Given the description of an element on the screen output the (x, y) to click on. 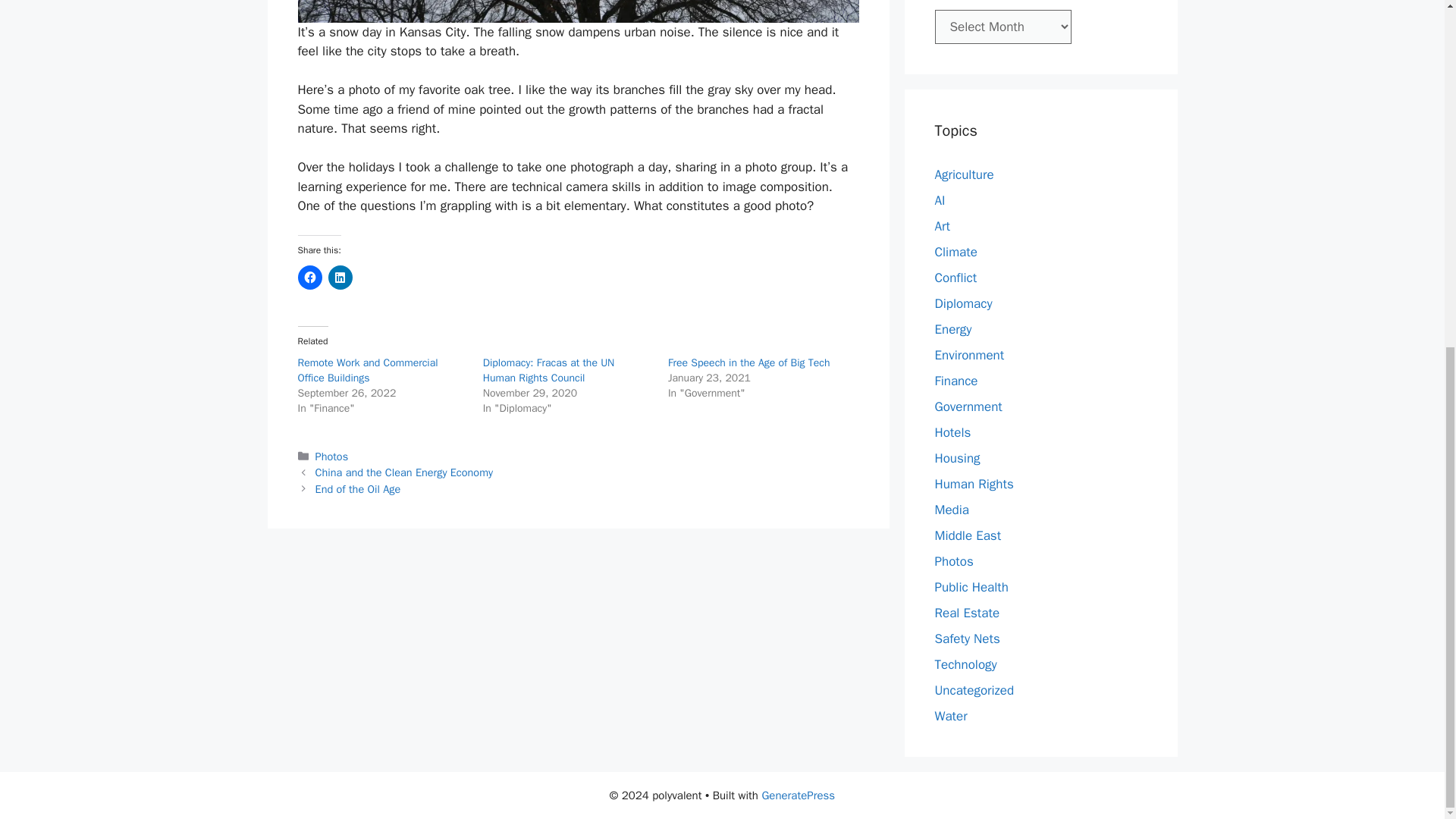
Photos (332, 456)
End of the Oil Age (358, 489)
Remote Work and Commercial Office Buildings (367, 370)
Click to share on Facebook (309, 277)
Remote Work and Commercial Office Buildings (367, 370)
Click to share on LinkedIn (339, 277)
Free Speech in the Age of Big Tech (748, 362)
Free Speech in the Age of Big Tech (748, 362)
Diplomacy: Fracas at the UN Human Rights Council (548, 370)
China and the Clean Energy Economy (404, 472)
